Given the description of an element on the screen output the (x, y) to click on. 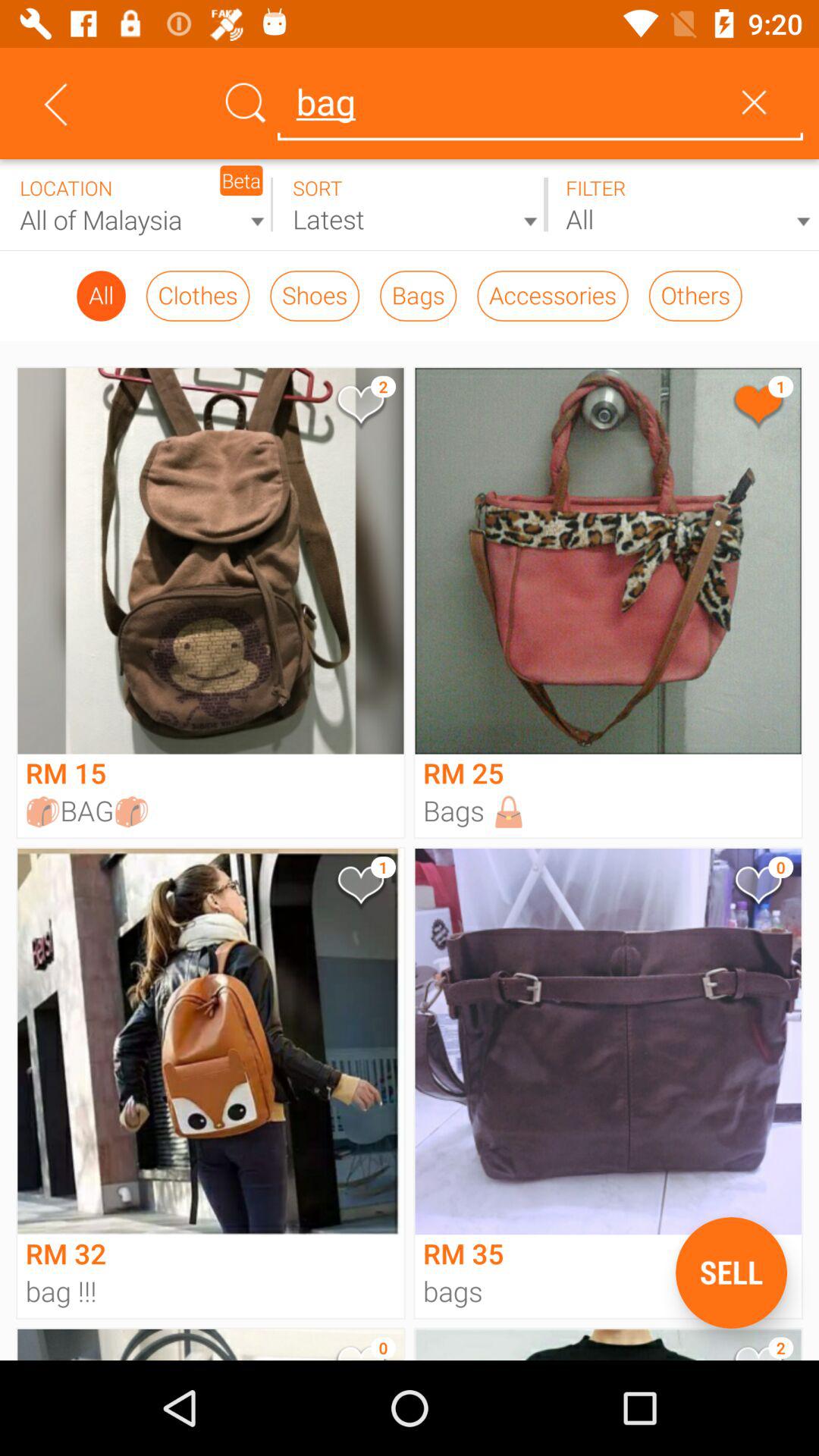
add to favourites (757, 888)
